Given the description of an element on the screen output the (x, y) to click on. 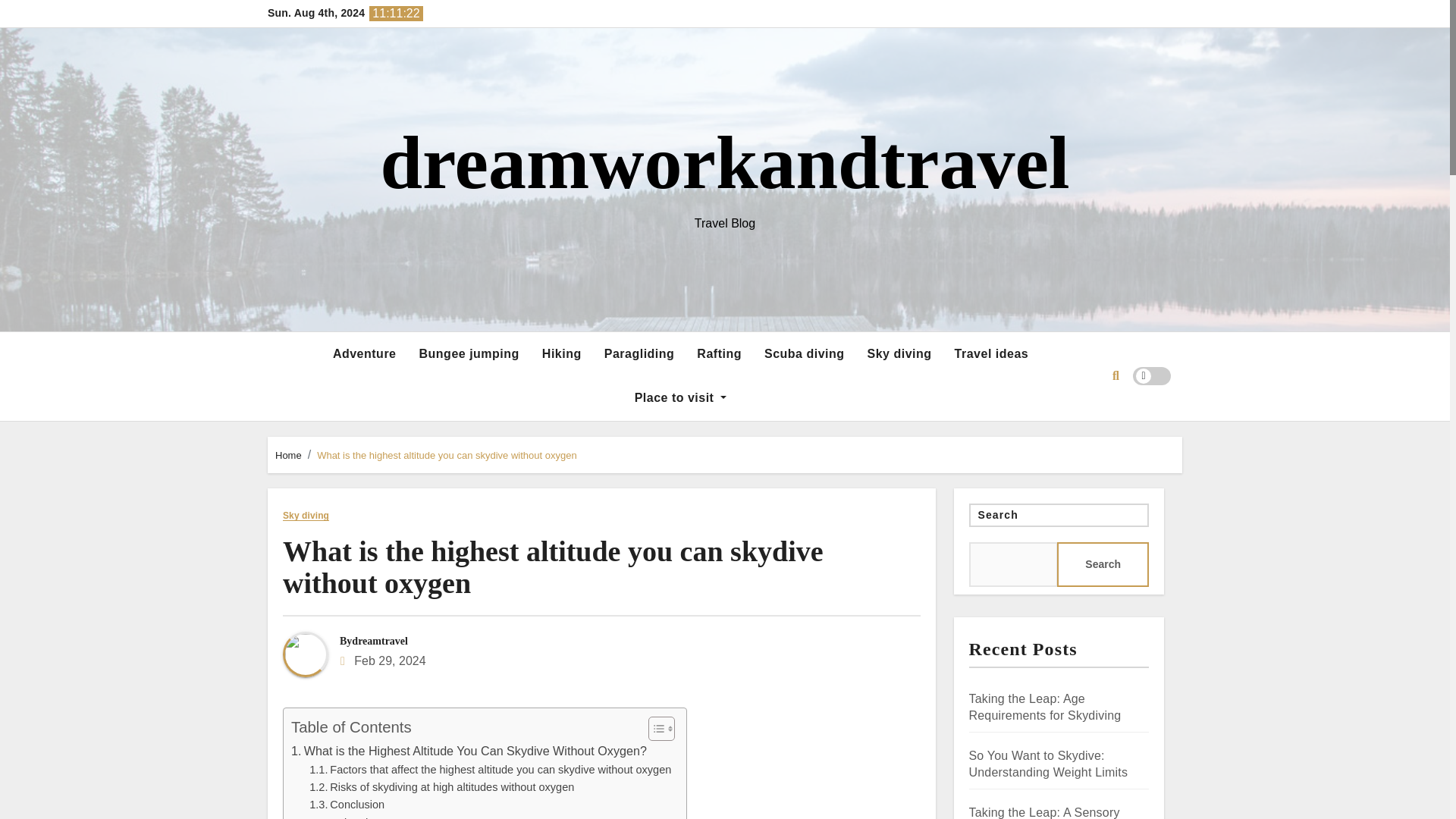
Travel ideas (992, 353)
Hiking (561, 353)
Paragliding (638, 353)
Hiking (561, 353)
Bungee jumping (469, 353)
Sky diving (305, 515)
Place to visit (680, 397)
Home (288, 455)
Sky diving (899, 353)
What is the highest altitude you can skydive without oxygen (446, 455)
Scuba diving (804, 353)
Related posts: (354, 816)
Sky diving (899, 353)
Adventure (364, 353)
